Given the description of an element on the screen output the (x, y) to click on. 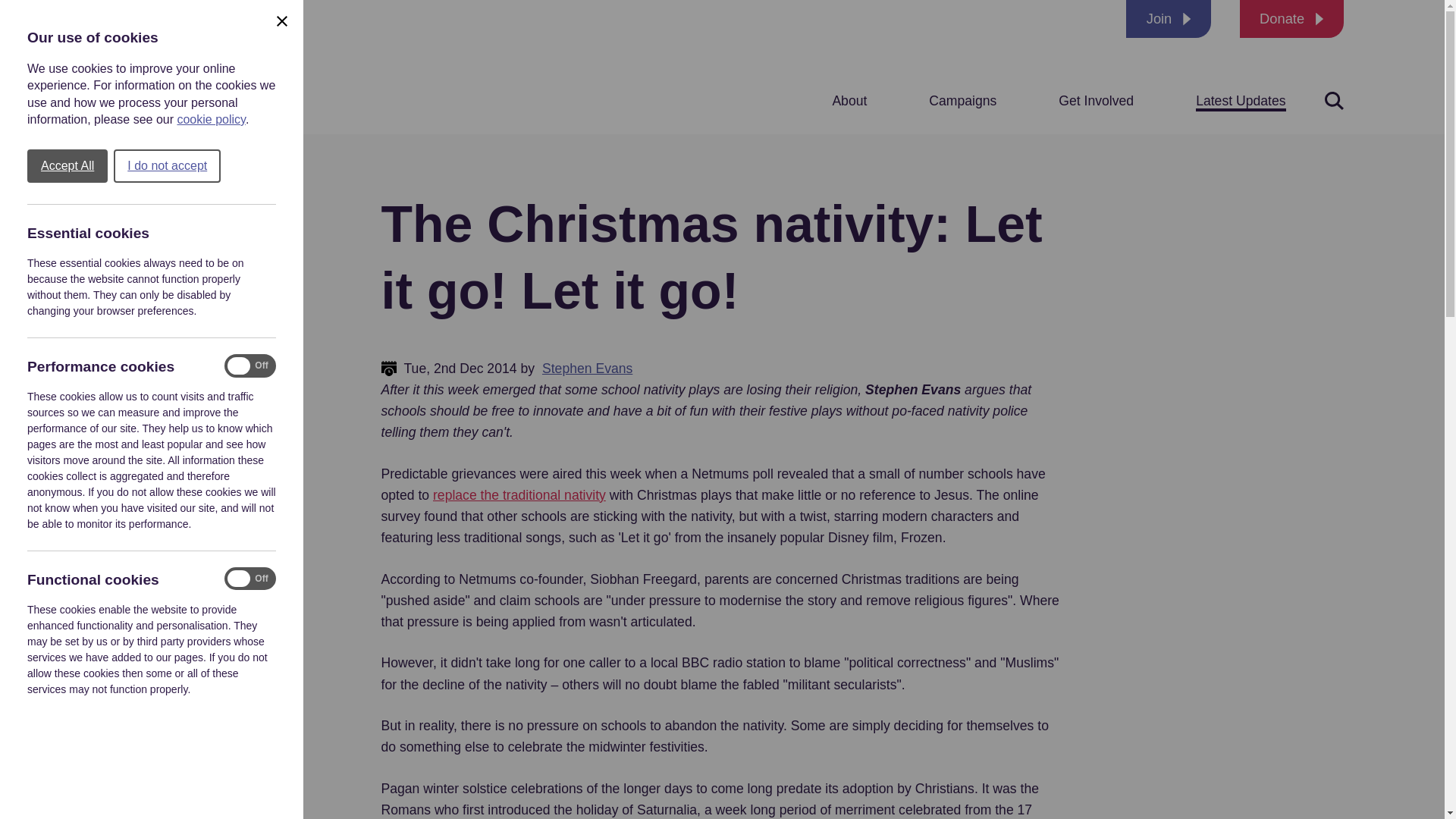
Campaigns (961, 100)
Latest Updates (1240, 100)
Get Involved (1096, 100)
Donate (1291, 18)
About (848, 100)
Stephen Evans (586, 368)
Accept All (67, 165)
cookie policy (210, 119)
Join (1167, 18)
Click to show search (1332, 100)
I do not accept (167, 165)
Logo (192, 66)
replace the traditional nativity (518, 495)
